Given the description of an element on the screen output the (x, y) to click on. 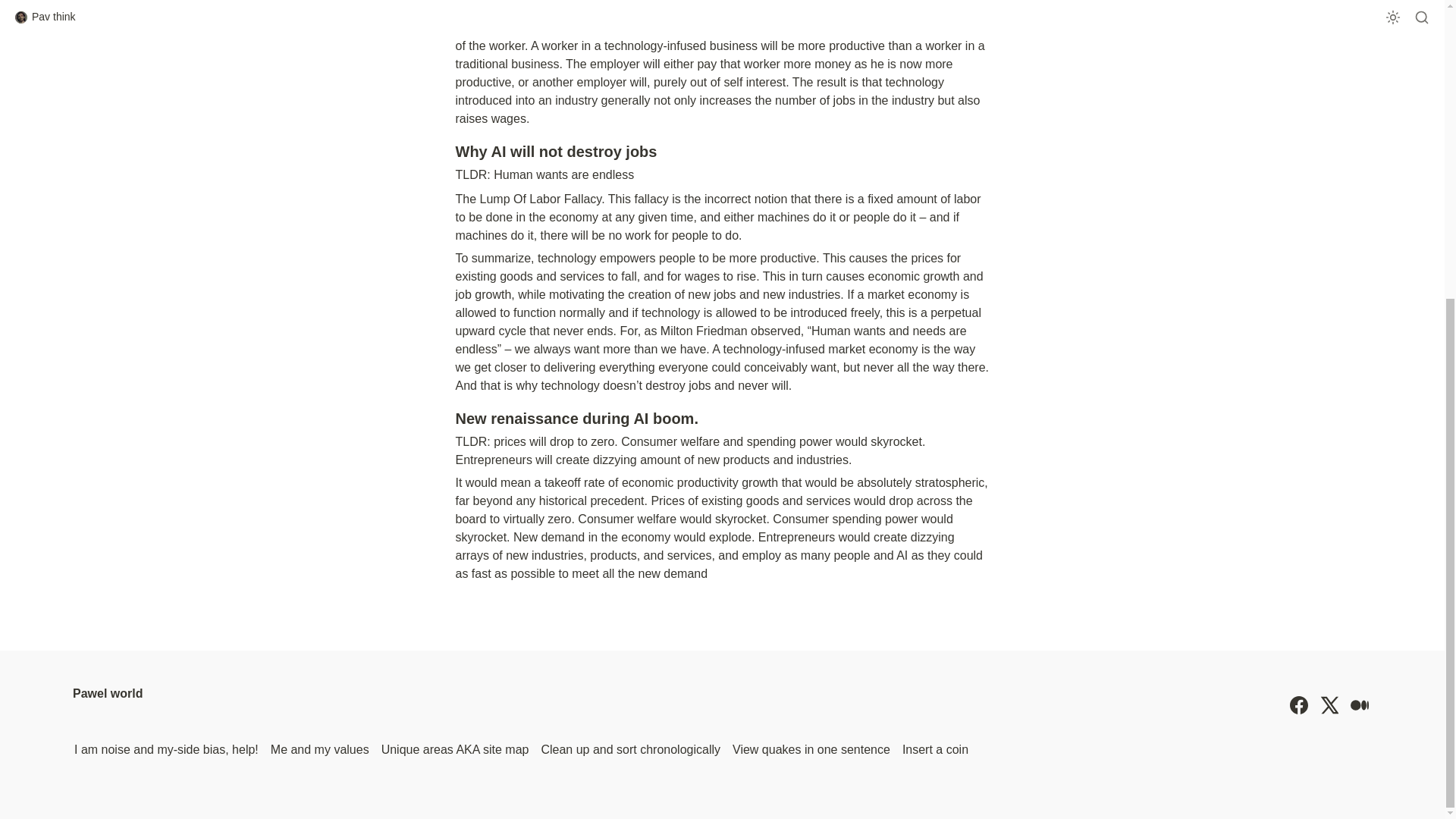
X (1329, 705)
Unique areas AKA site map (455, 750)
View quakes in one sentence (810, 750)
Medium (1359, 705)
Me and my values (320, 750)
Facebook (1298, 705)
Facebook (1298, 705)
Insert a coin (935, 750)
X (1329, 705)
Pawel world (107, 705)
